Given the description of an element on the screen output the (x, y) to click on. 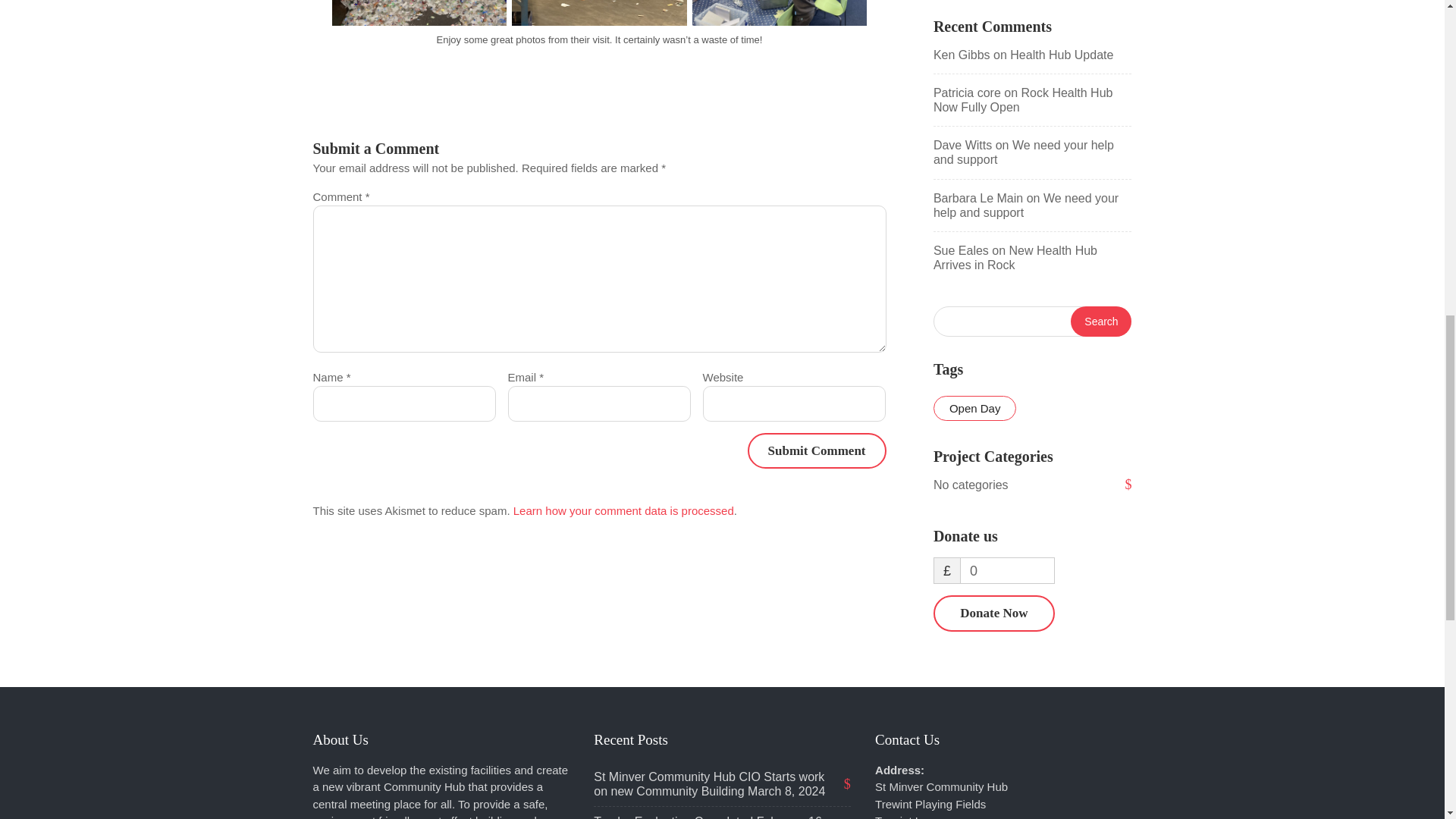
Learn how your comment data is processed (623, 510)
New Health Hub Arrives in Rock (1015, 257)
Rock Health Hub Now Fully Open (1023, 99)
We need your help and support (1023, 152)
Health Hub Update (1061, 54)
Submit Comment (817, 450)
We need your help and support (1025, 204)
Submit Comment (817, 450)
Search (1100, 321)
